Given the description of an element on the screen output the (x, y) to click on. 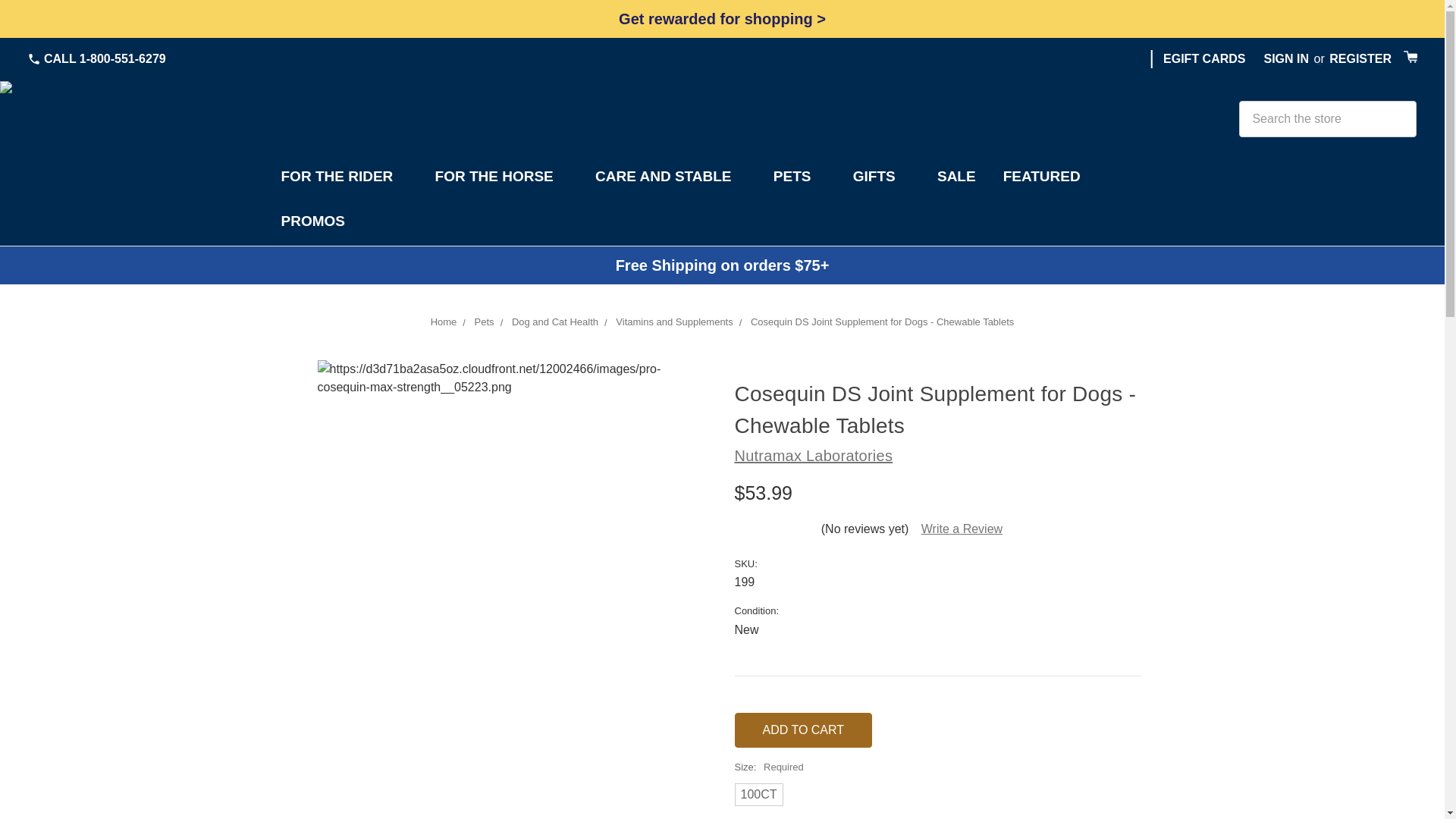
CALL 1-800-551-6279 (95, 58)
FOR THE RIDER (343, 179)
EGIFT CARDS (1203, 58)
SIGN IN or REGISTER (1323, 58)
Add to Cart (802, 729)
